Given the description of an element on the screen output the (x, y) to click on. 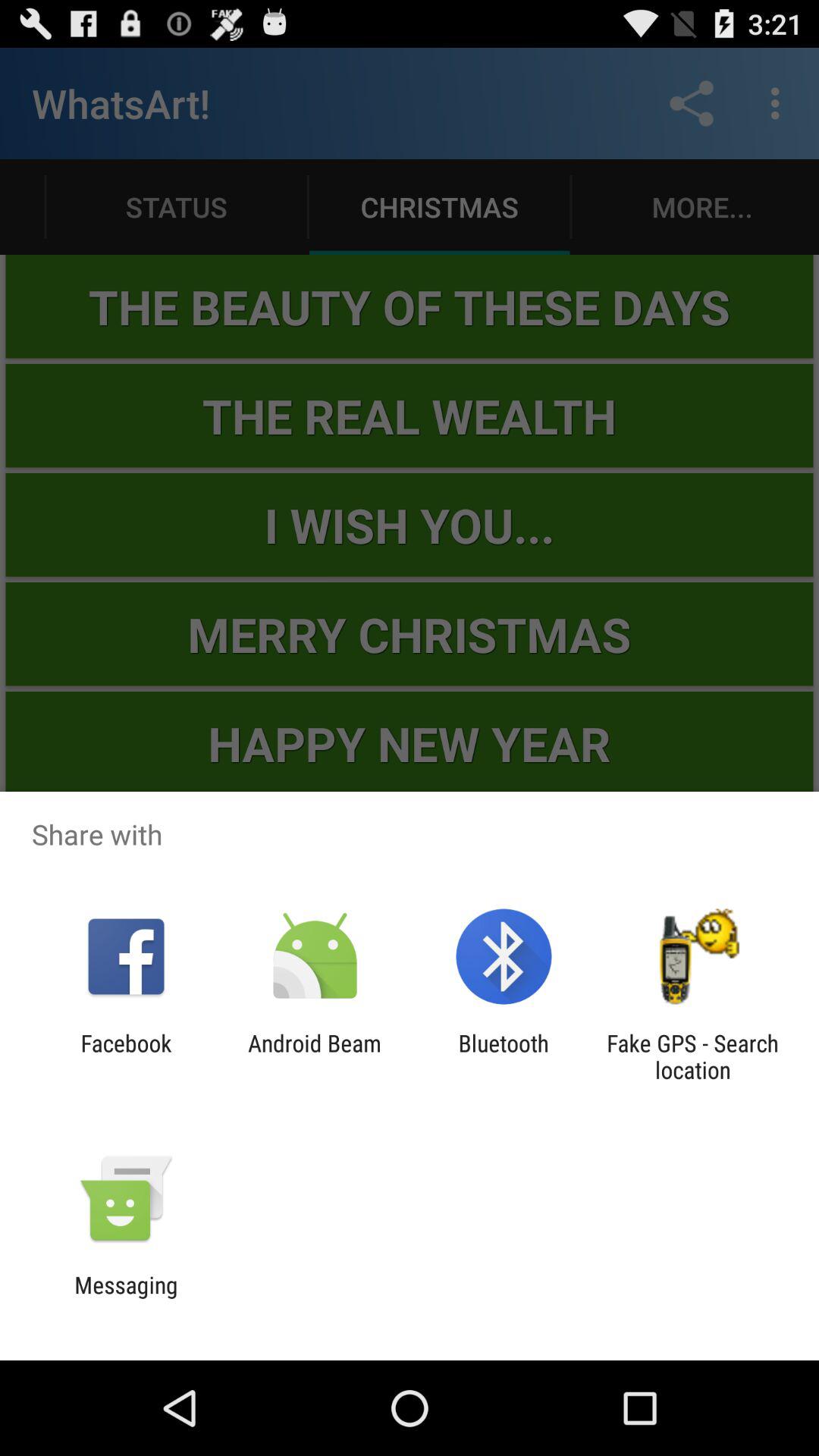
click the app to the left of the android beam (125, 1056)
